Given the description of an element on the screen output the (x, y) to click on. 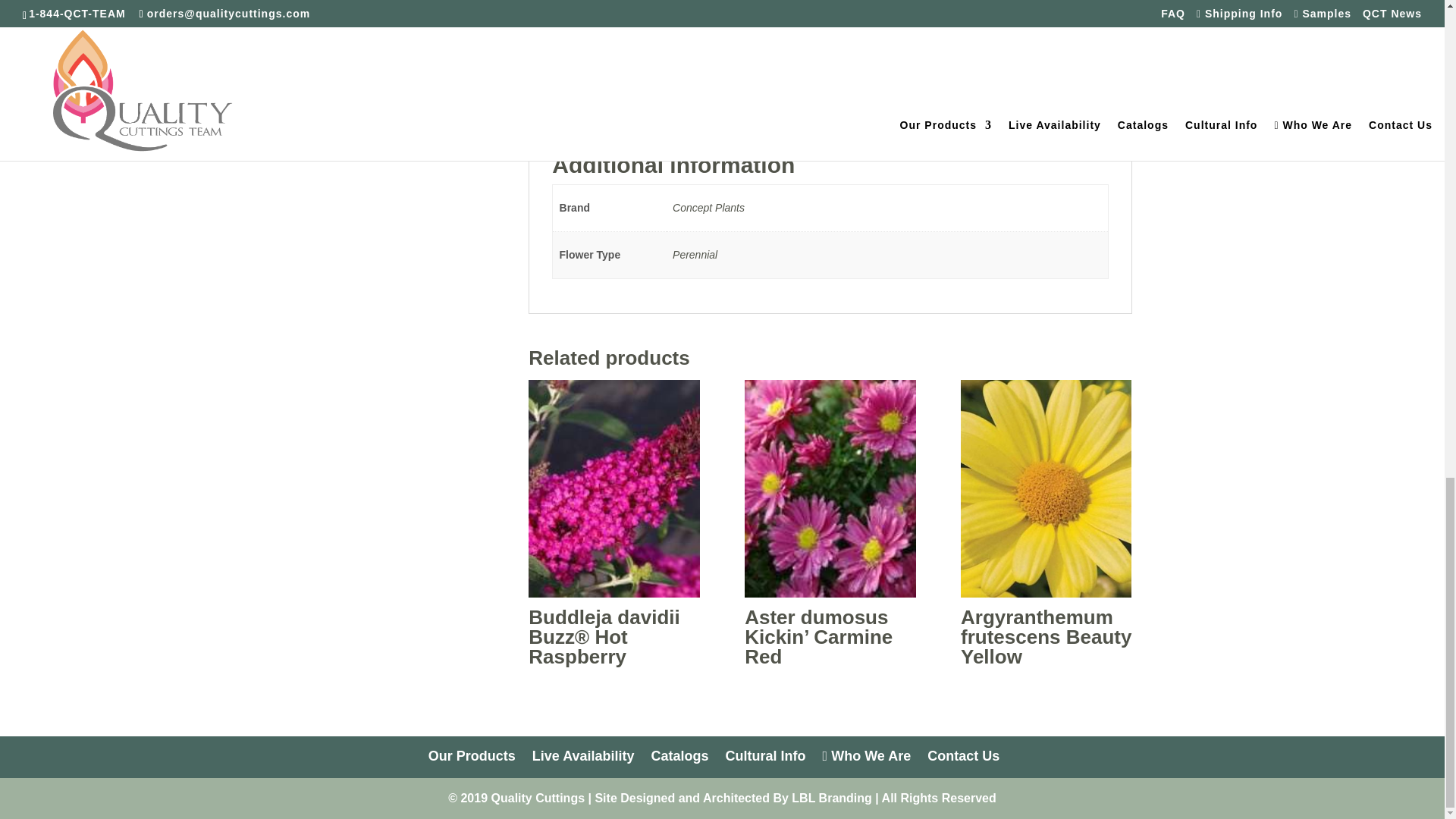
LBL Branding (831, 797)
Cultural Info (765, 755)
Who We Are (866, 755)
Live Availability (583, 755)
Catalogs (679, 755)
Our Products (471, 755)
Contact Us (962, 755)
